Given the description of an element on the screen output the (x, y) to click on. 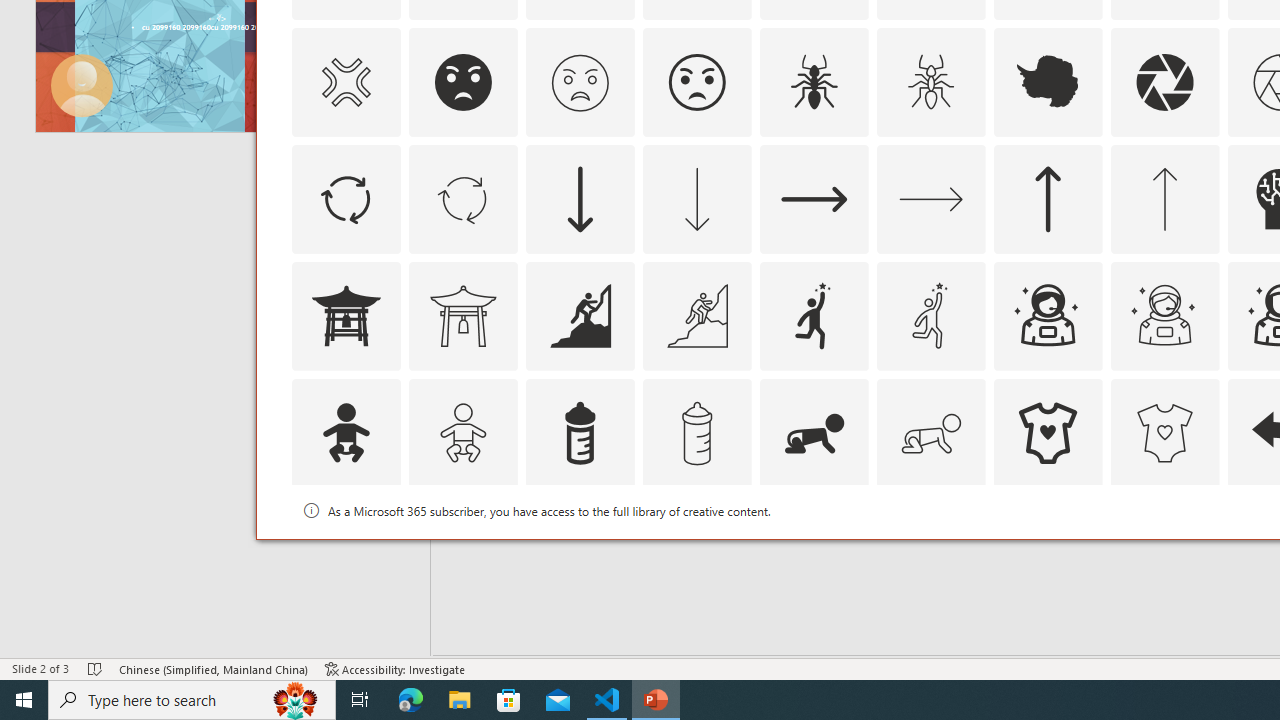
AutomationID: Icons_BabyCrawling (813, 432)
AutomationID: Icons_ArrowUp_M (1164, 198)
AutomationID: Icons_BabyBottle (579, 432)
AutomationID: Icons_Ant_M (930, 82)
AutomationID: Icons (1048, 550)
AutomationID: Icons_Badge4_M (1048, 550)
